Given the description of an element on the screen output the (x, y) to click on. 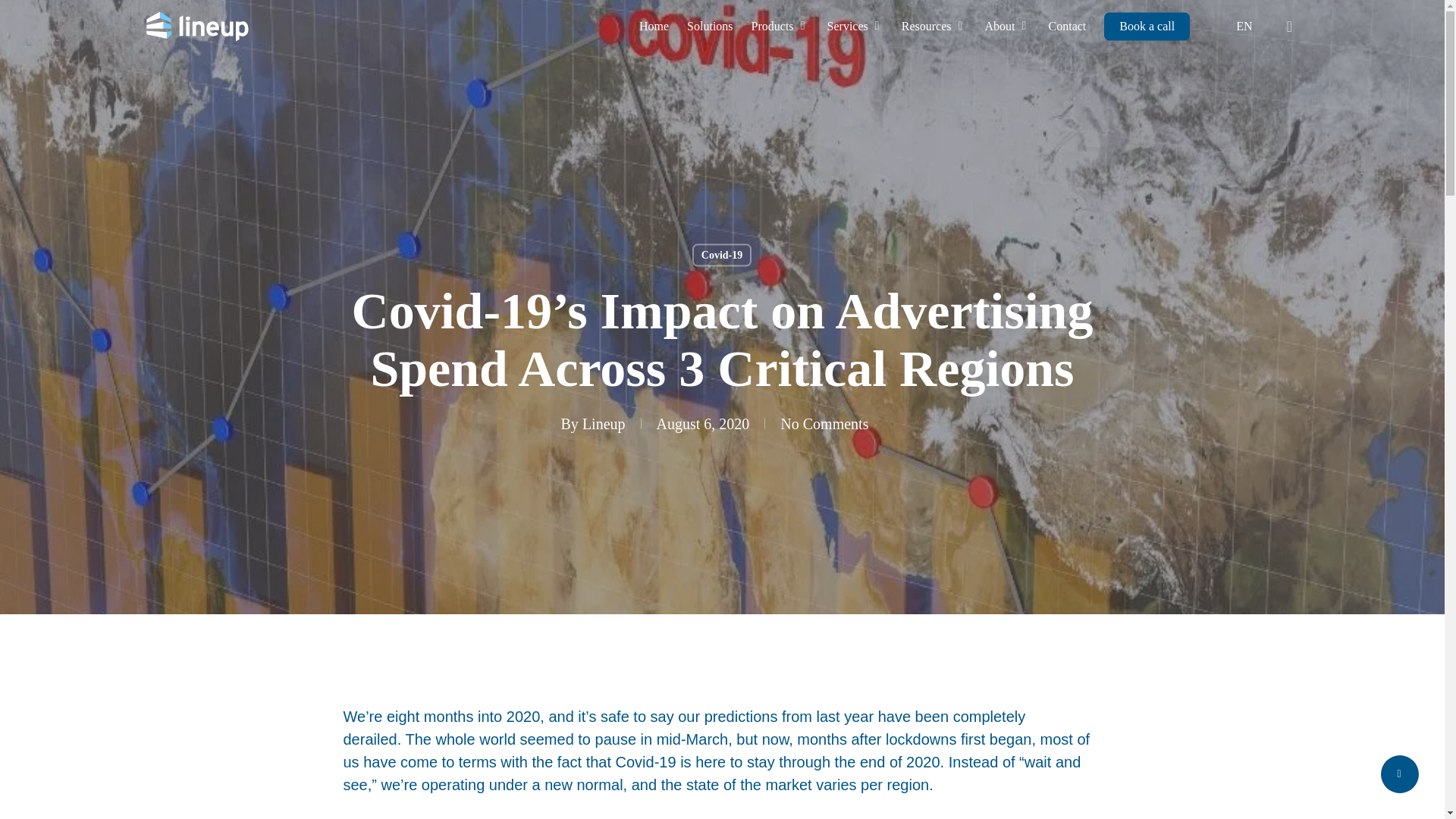
Covid-19 (722, 255)
Resources (933, 26)
Products (780, 26)
English (1237, 26)
Book a call (1146, 26)
About (1007, 26)
Services (855, 26)
Contact (1067, 26)
EN (1237, 26)
Solutions (709, 26)
